Given the description of an element on the screen output the (x, y) to click on. 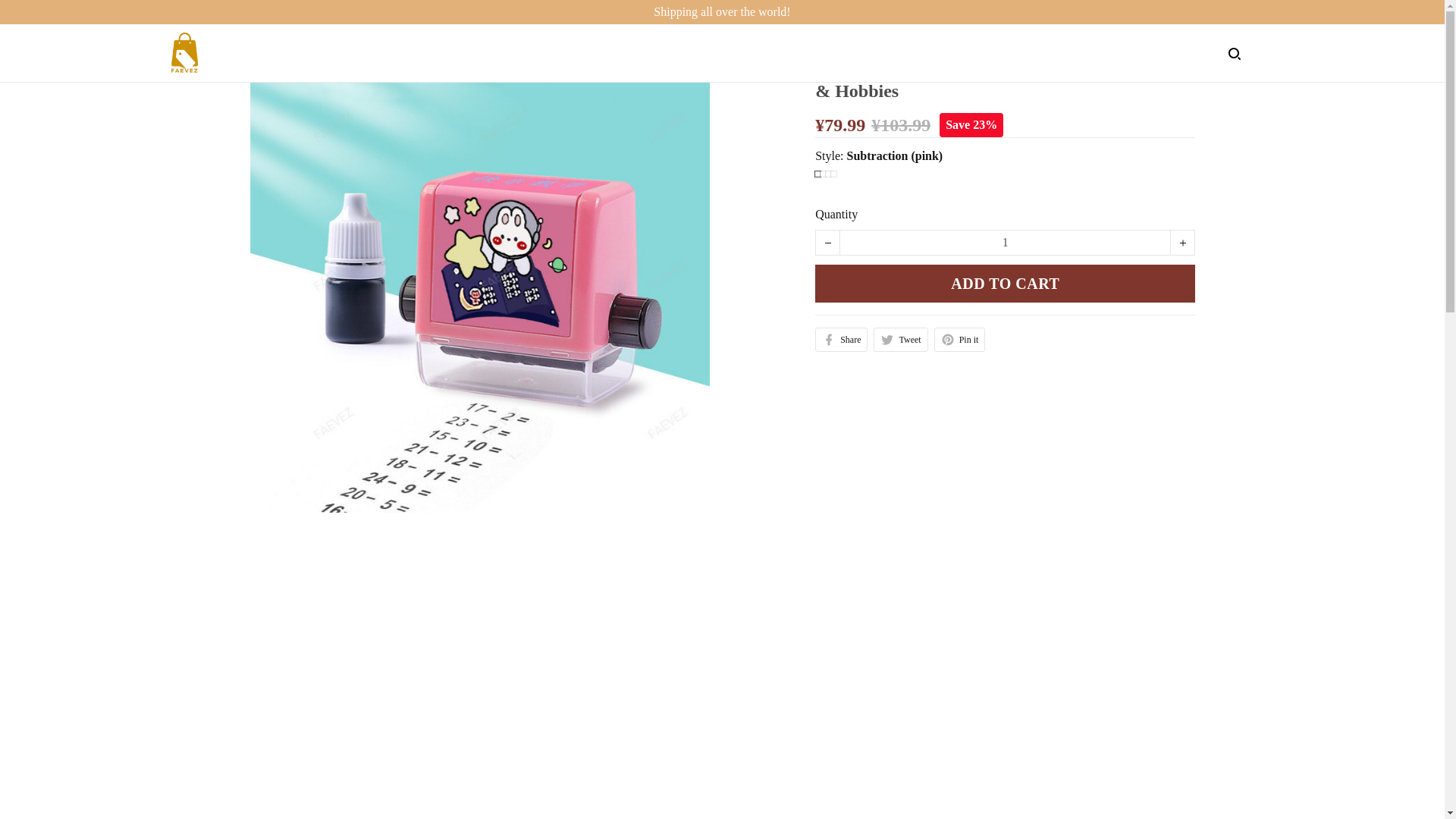
Pin on Pinterest (959, 339)
Tweet (900, 339)
Share on Facebook (841, 339)
1 (1005, 242)
Share (841, 339)
Share on Twitter (900, 339)
Pin it (959, 339)
ADD TO CART (1005, 283)
